Given the description of an element on the screen output the (x, y) to click on. 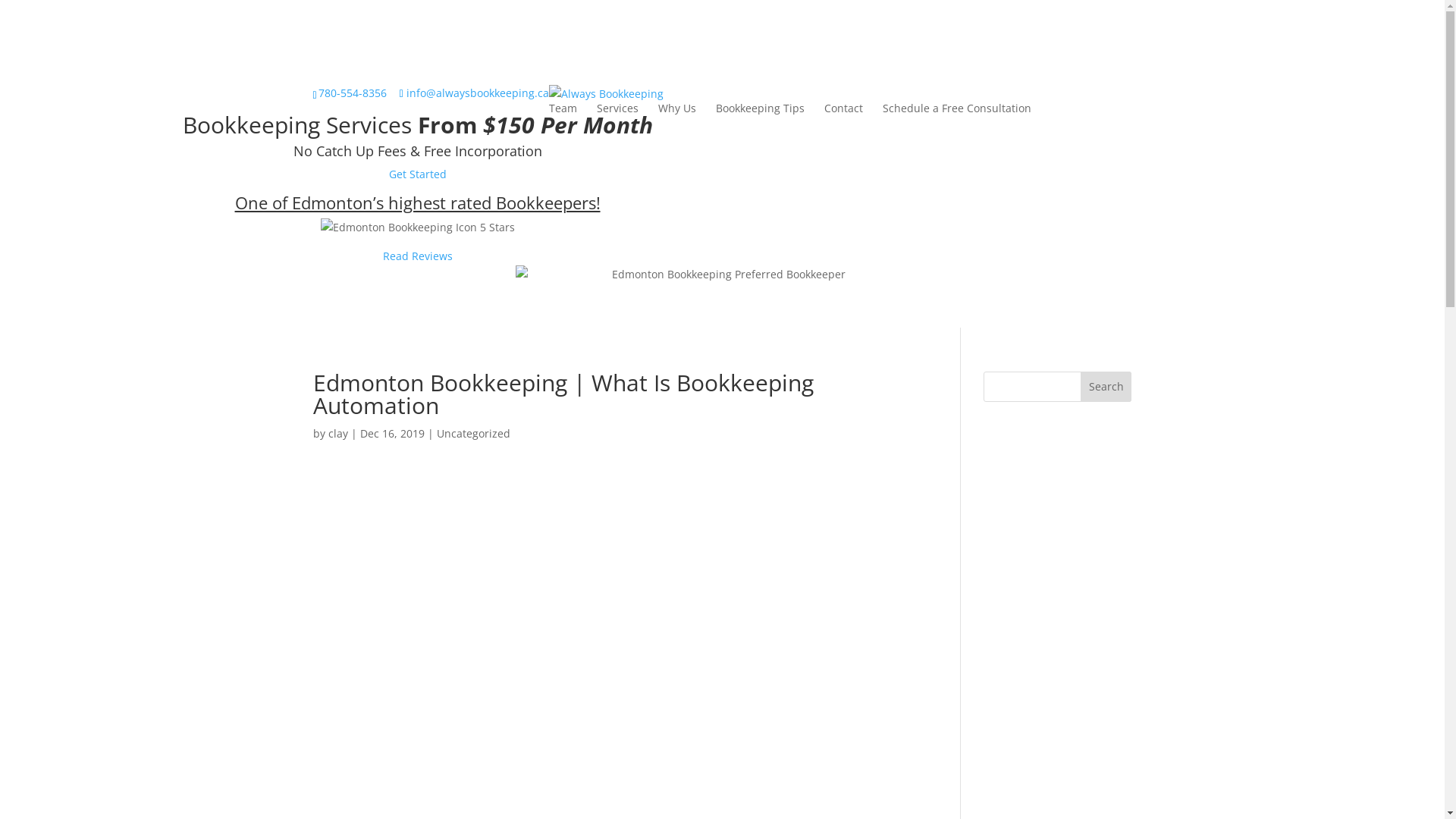
Services Element type: text (617, 108)
Schedule a Free Consultation Element type: text (956, 108)
clay Element type: text (337, 433)
780-554-8356 Element type: text (348, 92)
Get Started Element type: text (417, 173)
Bookkeeping Tips Element type: text (759, 108)
Search Element type: text (1106, 386)
info@alwaysbookkeeping.ca Element type: text (474, 92)
Read Reviews Element type: text (417, 255)
Contact Element type: text (843, 108)
Team Element type: text (563, 108)
Why Us Element type: text (677, 108)
